Given the description of an element on the screen output the (x, y) to click on. 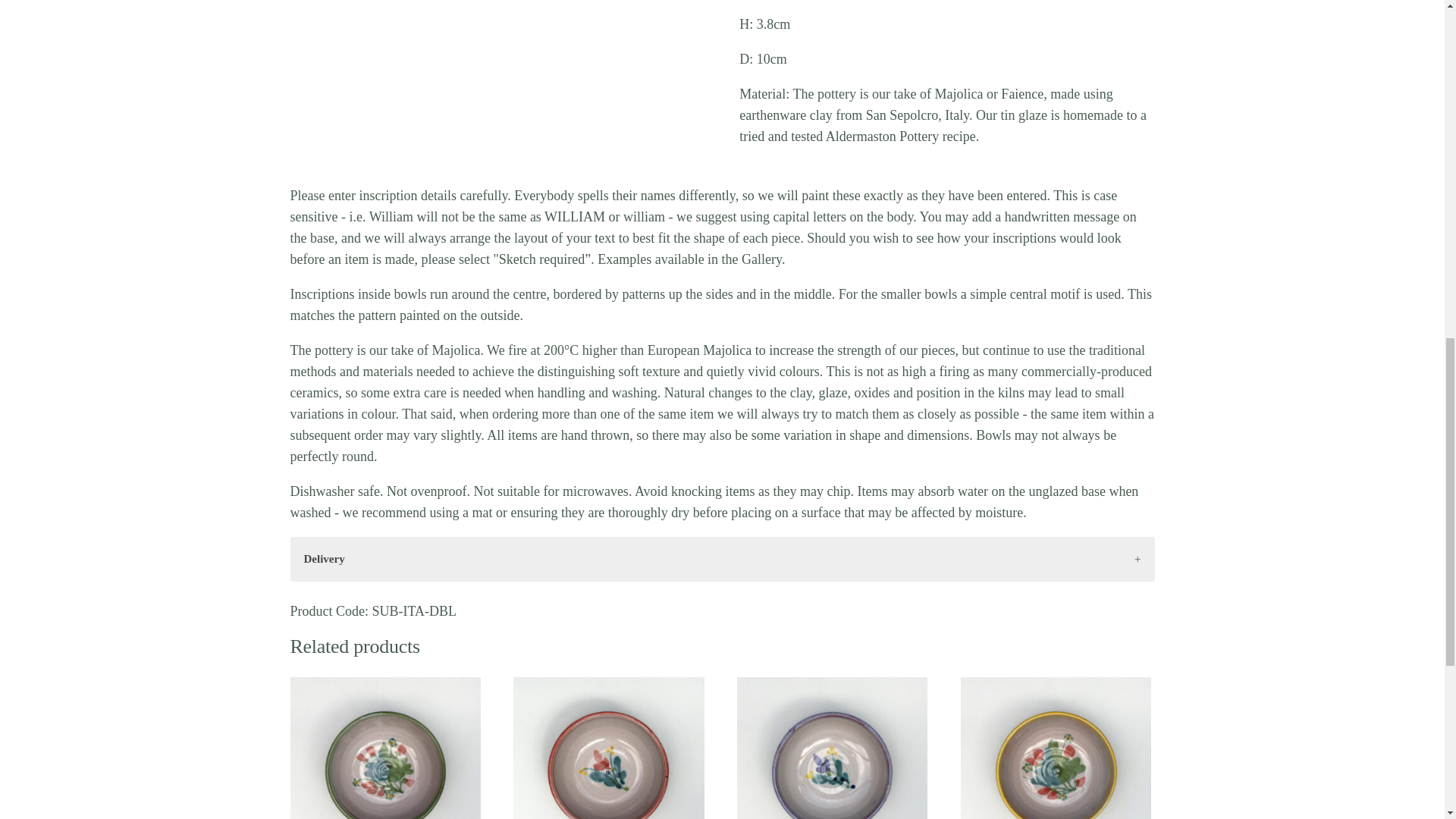
Delivery (721, 559)
